Given the description of an element on the screen output the (x, y) to click on. 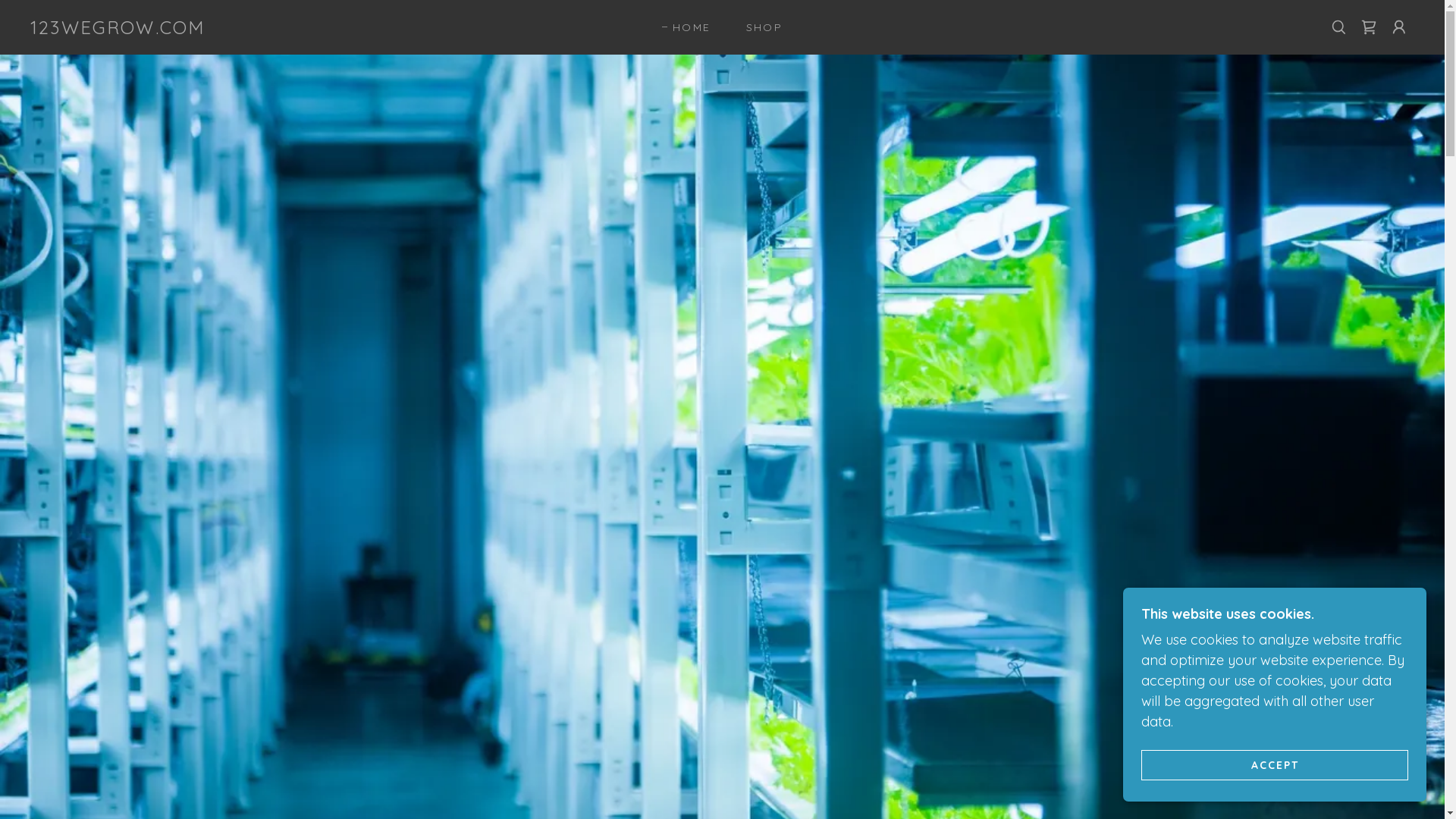
SHOP Element type: text (759, 26)
ACCEPT Element type: text (1274, 764)
123WEGROW.COM Element type: text (117, 28)
HOME Element type: text (686, 27)
